Given the description of an element on the screen output the (x, y) to click on. 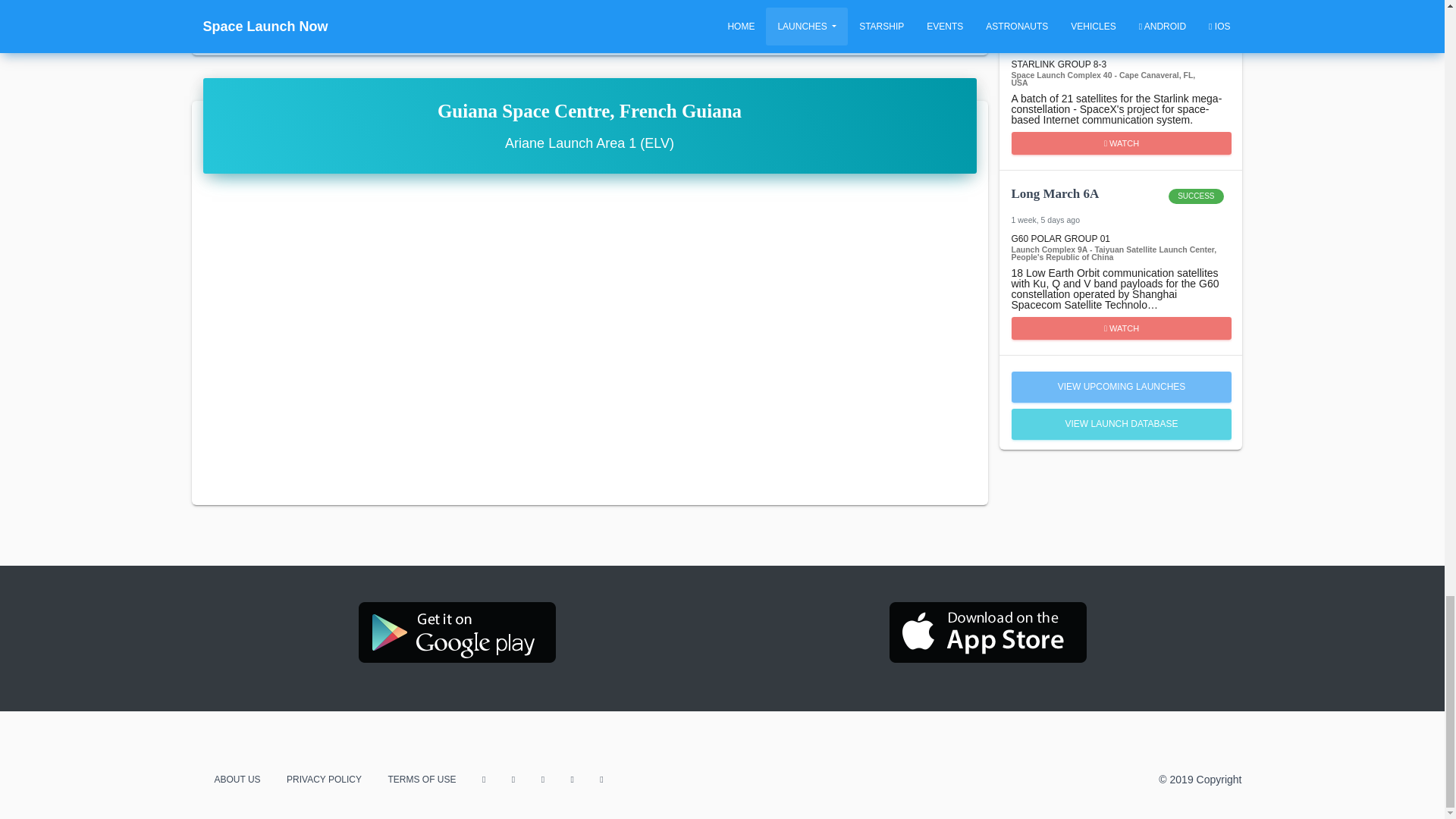
WIKI (588, 20)
WATCH (1121, 327)
WATCH (1121, 142)
